Given the description of an element on the screen output the (x, y) to click on. 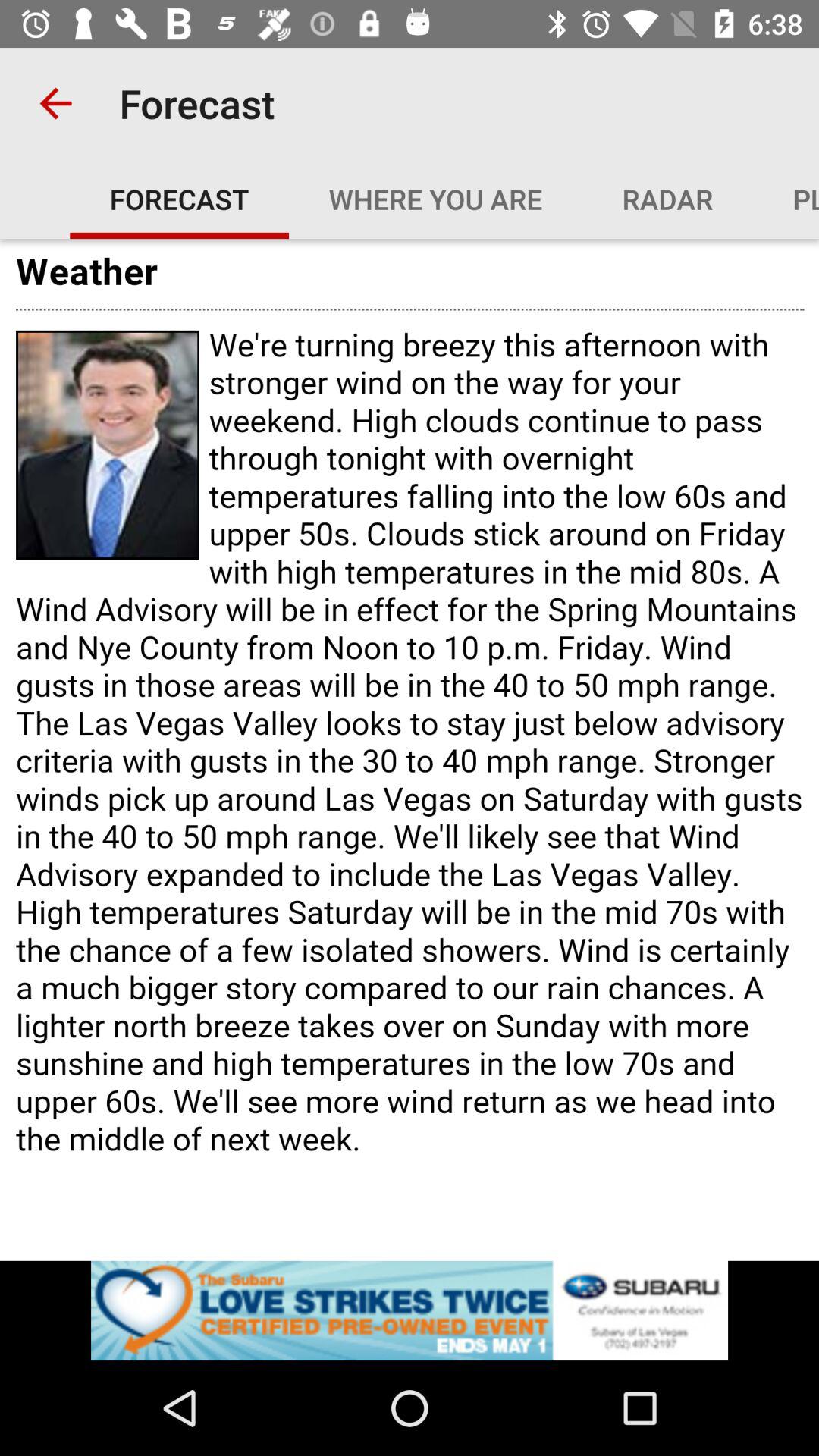
advertising (409, 1310)
